Given the description of an element on the screen output the (x, y) to click on. 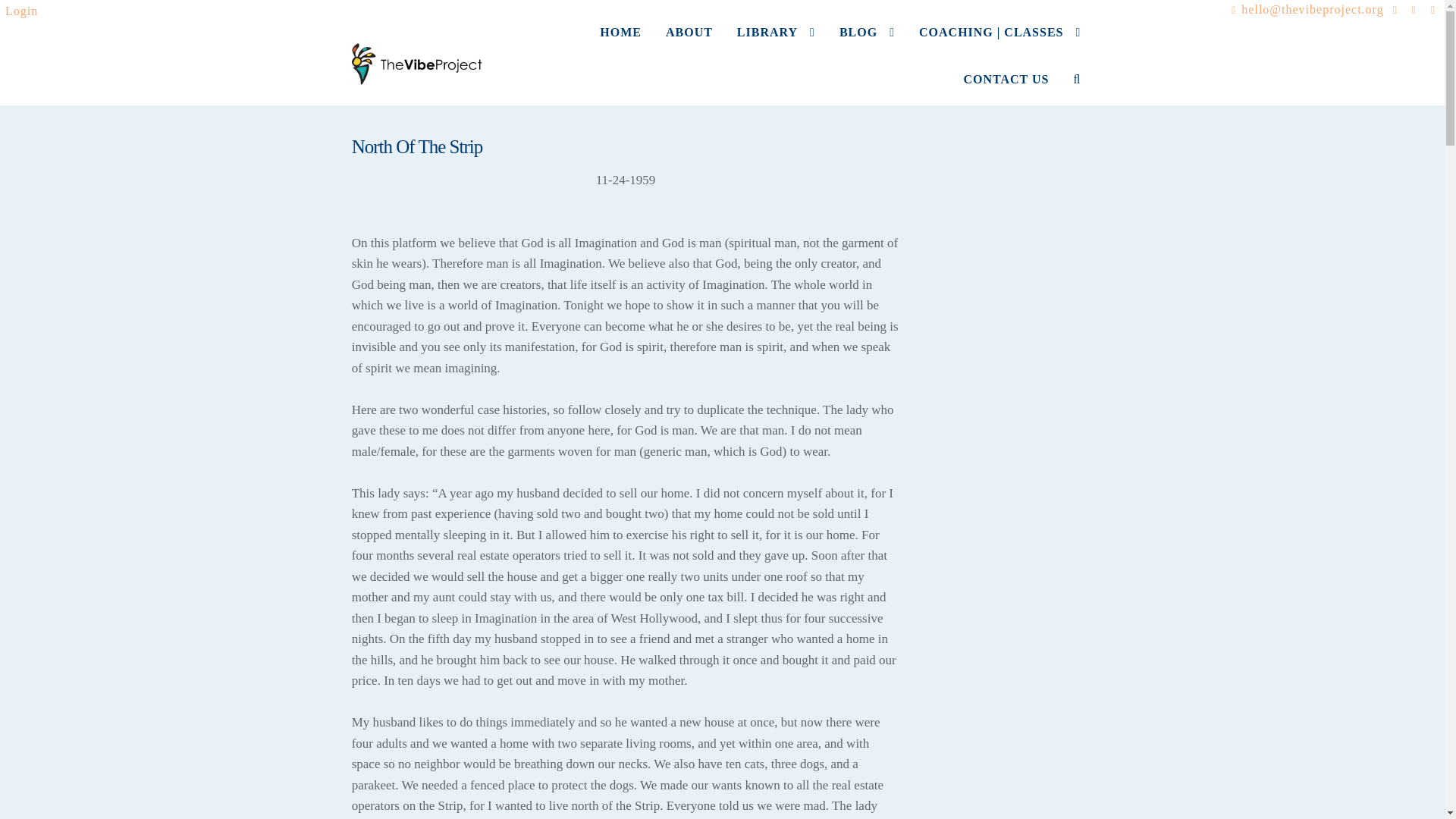
HOME (620, 45)
ABOUT (689, 45)
Login (21, 11)
LIBRARY (776, 45)
BLOG (867, 45)
CONTACT US (1005, 93)
